Given the description of an element on the screen output the (x, y) to click on. 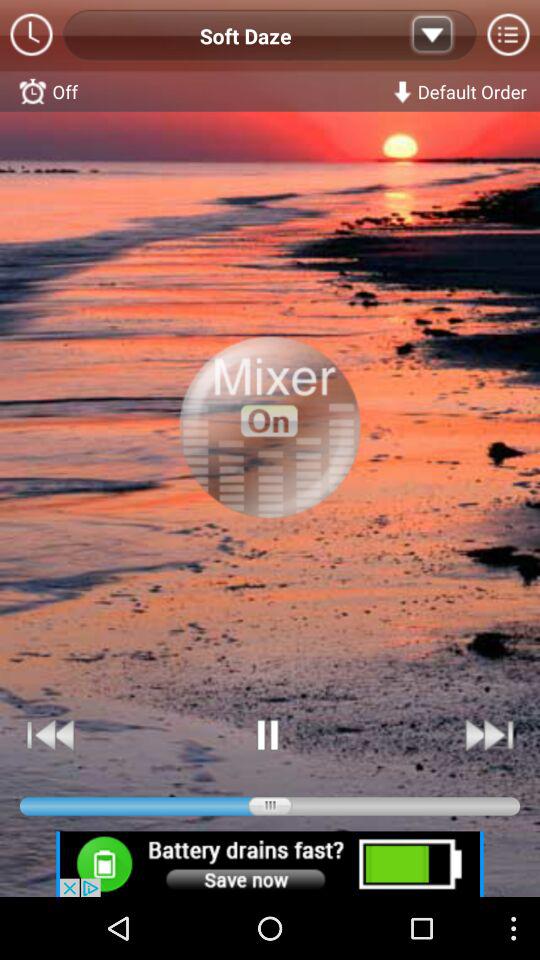
go to clock (31, 35)
